Given the description of an element on the screen output the (x, y) to click on. 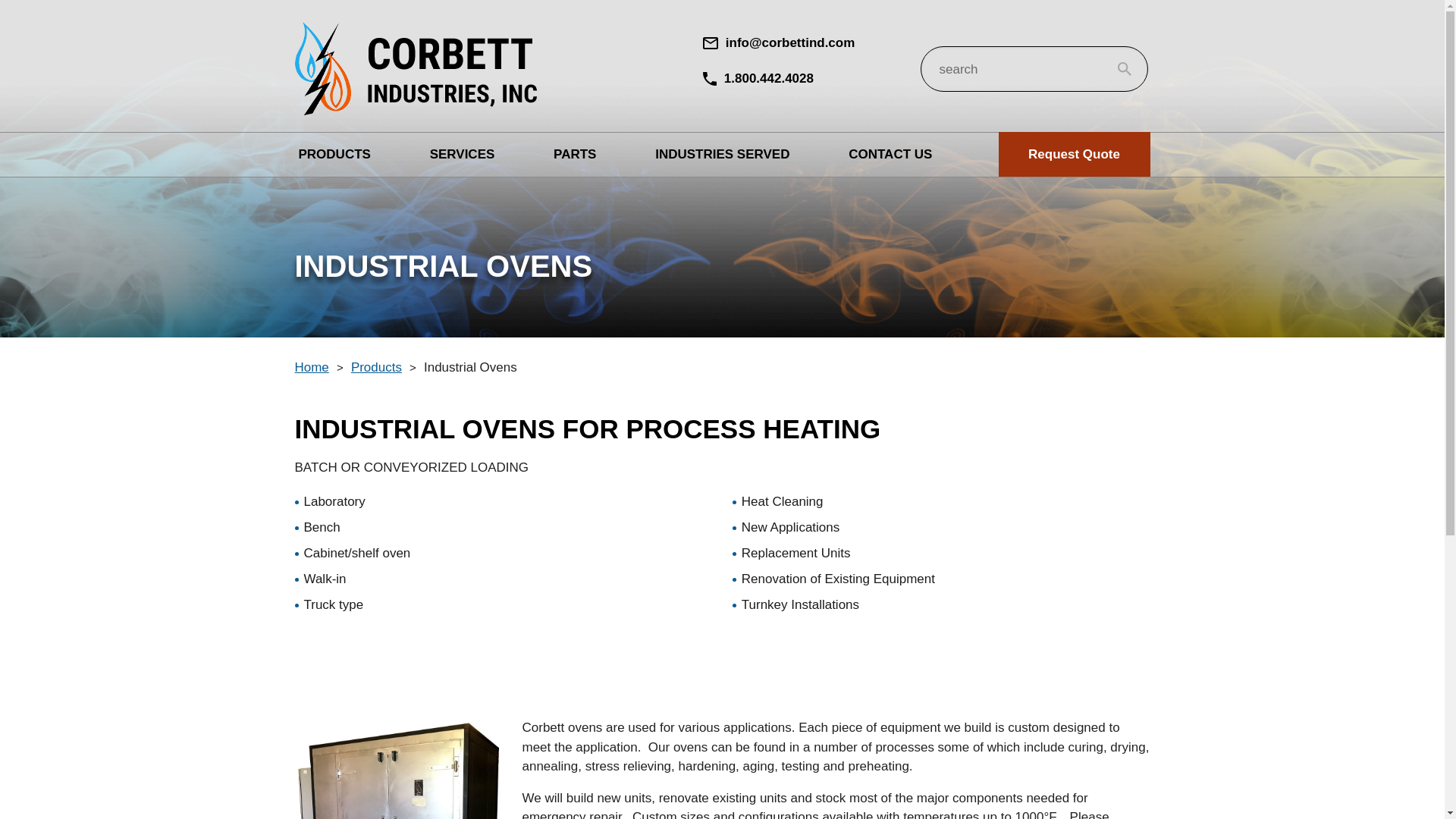
SERVICES (462, 153)
CONTACT US (890, 153)
1.800.442.4028 (758, 78)
Home (311, 367)
search (1034, 68)
Corbett Industries, Inc. (414, 68)
Request Quote (1074, 154)
PRODUCTS (334, 153)
Products (375, 367)
Search (1124, 69)
INDUSTRIES SERVED (721, 153)
PARTS (574, 153)
